Given the description of an element on the screen output the (x, y) to click on. 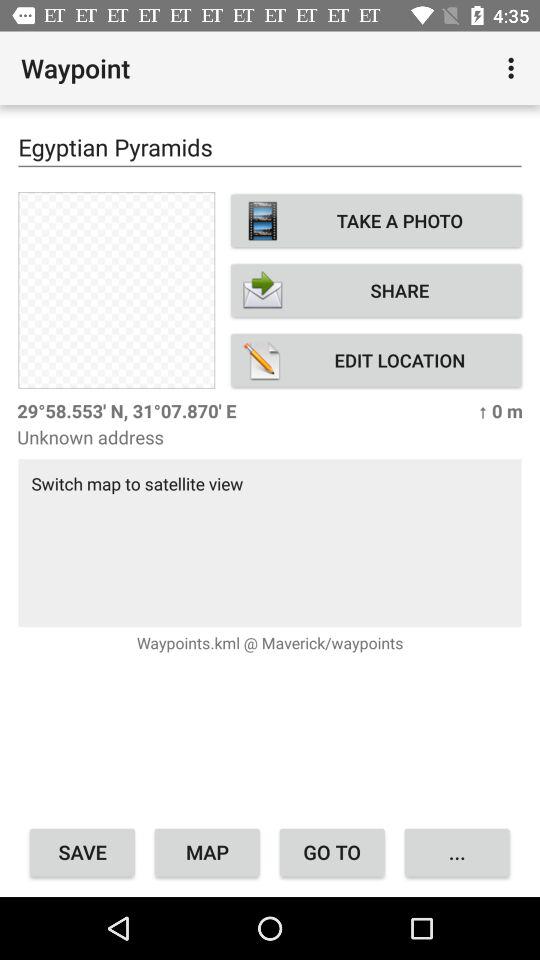
choose item above the 29 58 553 (375, 360)
